Given the description of an element on the screen output the (x, y) to click on. 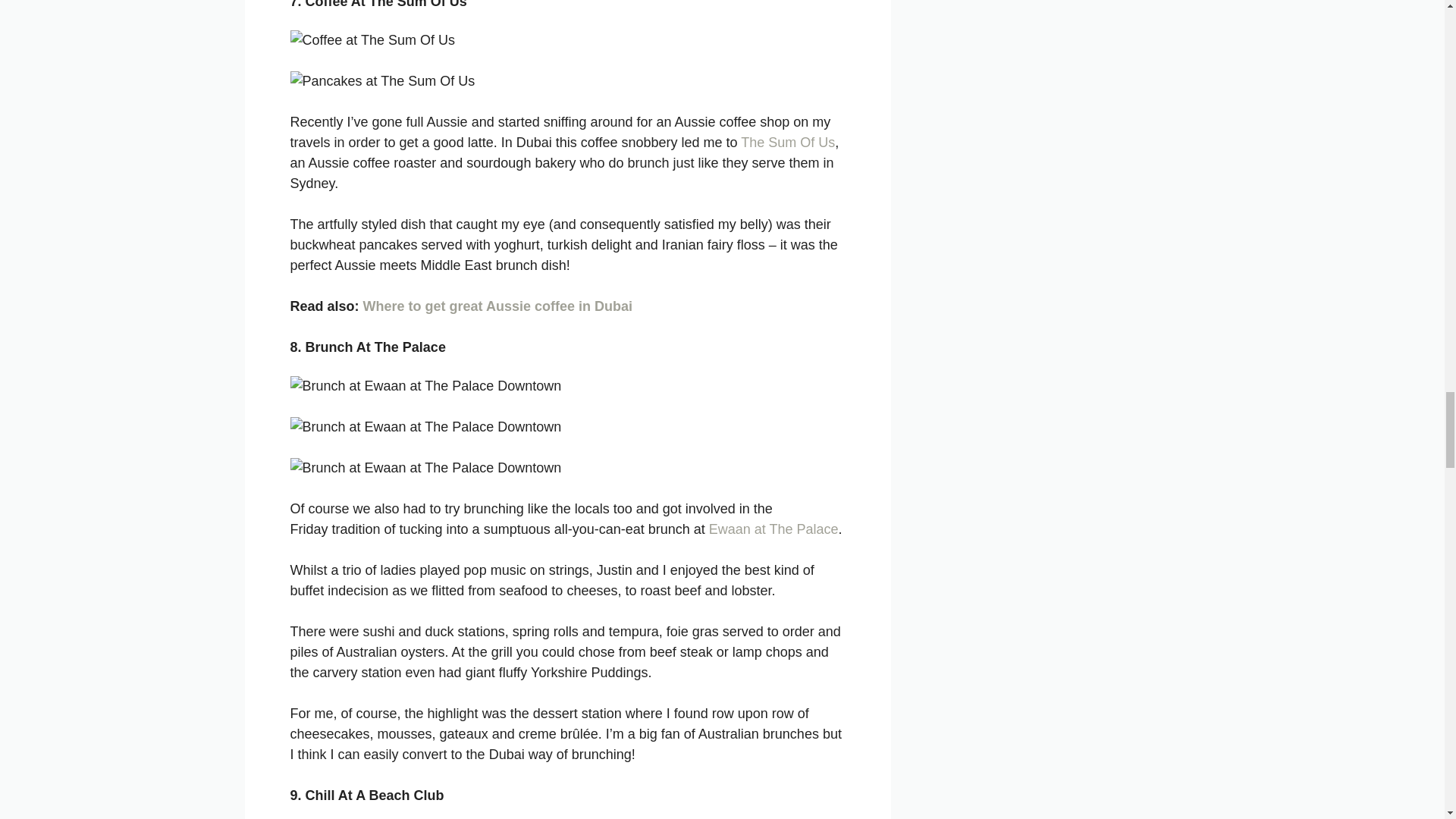
The Sum Of Us (787, 142)
Where to get great Aussie coffee in Dubai (496, 305)
Ewaan at The Palace (773, 529)
